Given the description of an element on the screen output the (x, y) to click on. 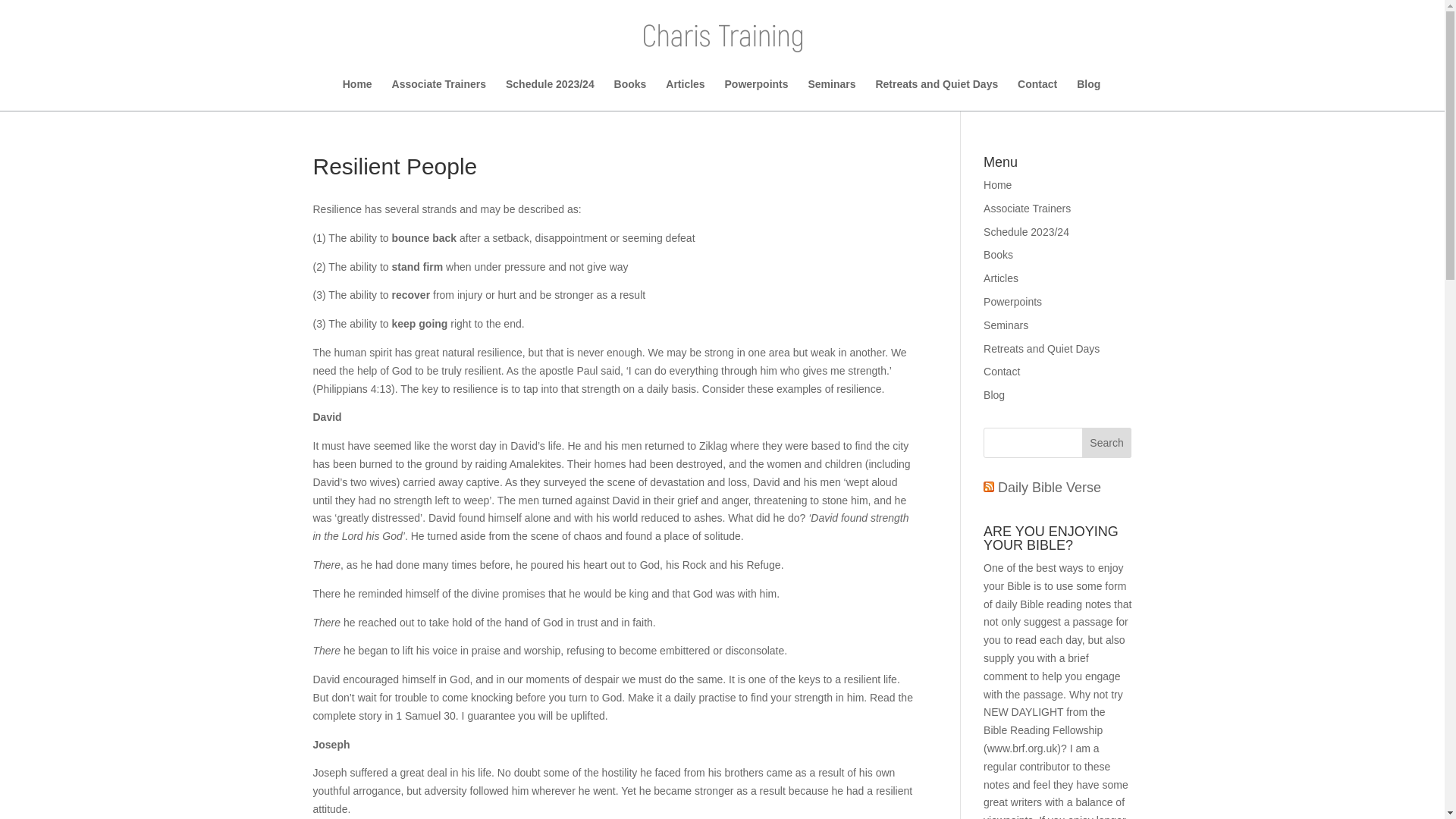
Associate Trainers (1027, 208)
Articles (1000, 277)
Retreats and Quiet Days (1041, 348)
Articles (684, 94)
Home (997, 184)
Blog (994, 395)
Seminars (832, 94)
Contact (1037, 94)
Search (1106, 442)
Powerpoints (757, 94)
Home (357, 94)
Books (630, 94)
Books (998, 254)
Contact (1002, 371)
Associate Trainers (438, 94)
